Given the description of an element on the screen output the (x, y) to click on. 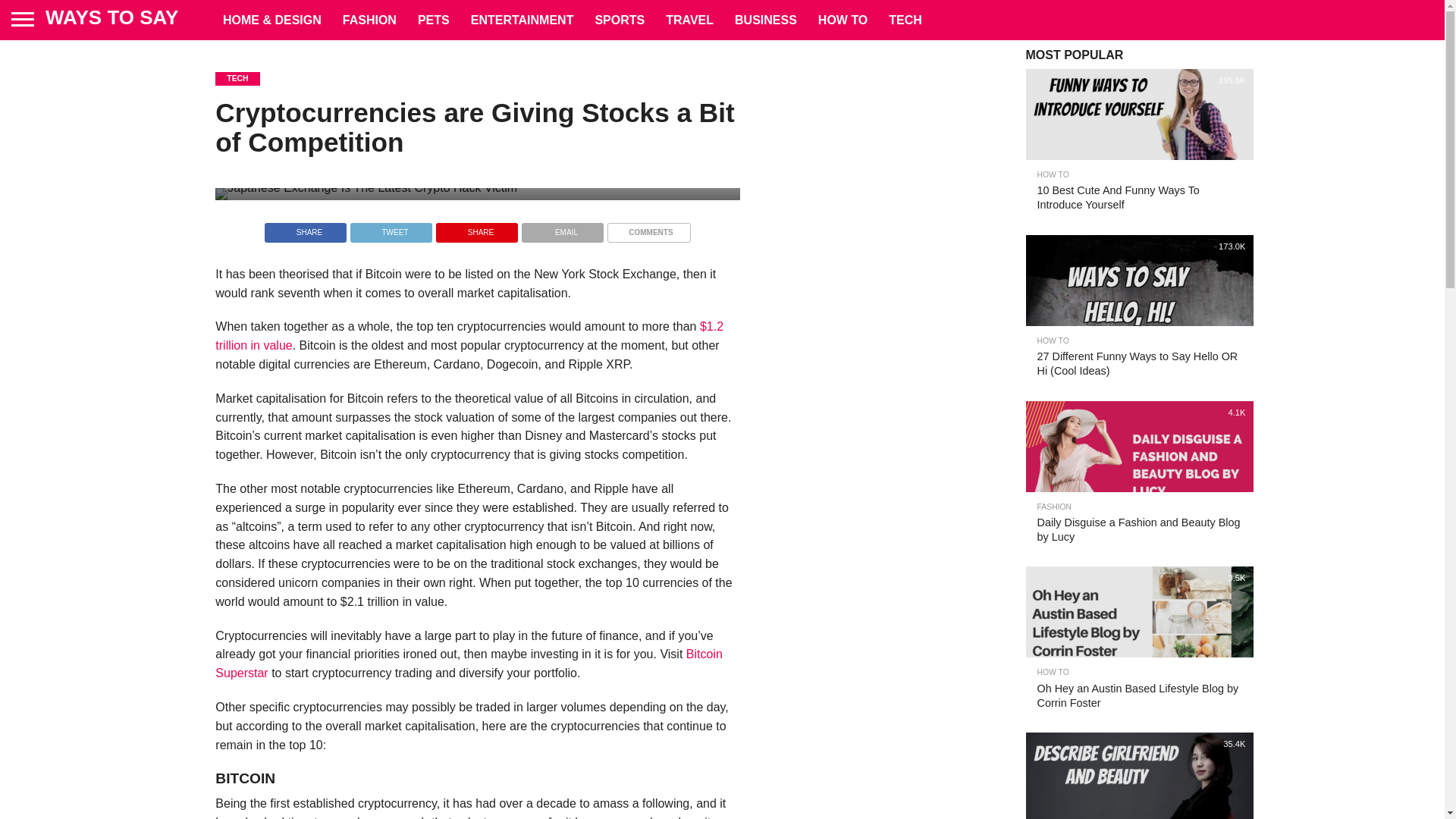
Pin This Post (476, 228)
SPORTS (619, 20)
PETS (433, 20)
TRAVEL (689, 20)
SHARE (476, 228)
COMMENTS (648, 228)
EMAIL (562, 228)
Tweet This Post (390, 228)
SHARE (305, 228)
TECH (905, 20)
Bitcoin Superstar (468, 663)
HOW TO (842, 20)
TWEET (390, 228)
BUSINESS (765, 20)
ENTERTAINMENT (522, 20)
